Given the description of an element on the screen output the (x, y) to click on. 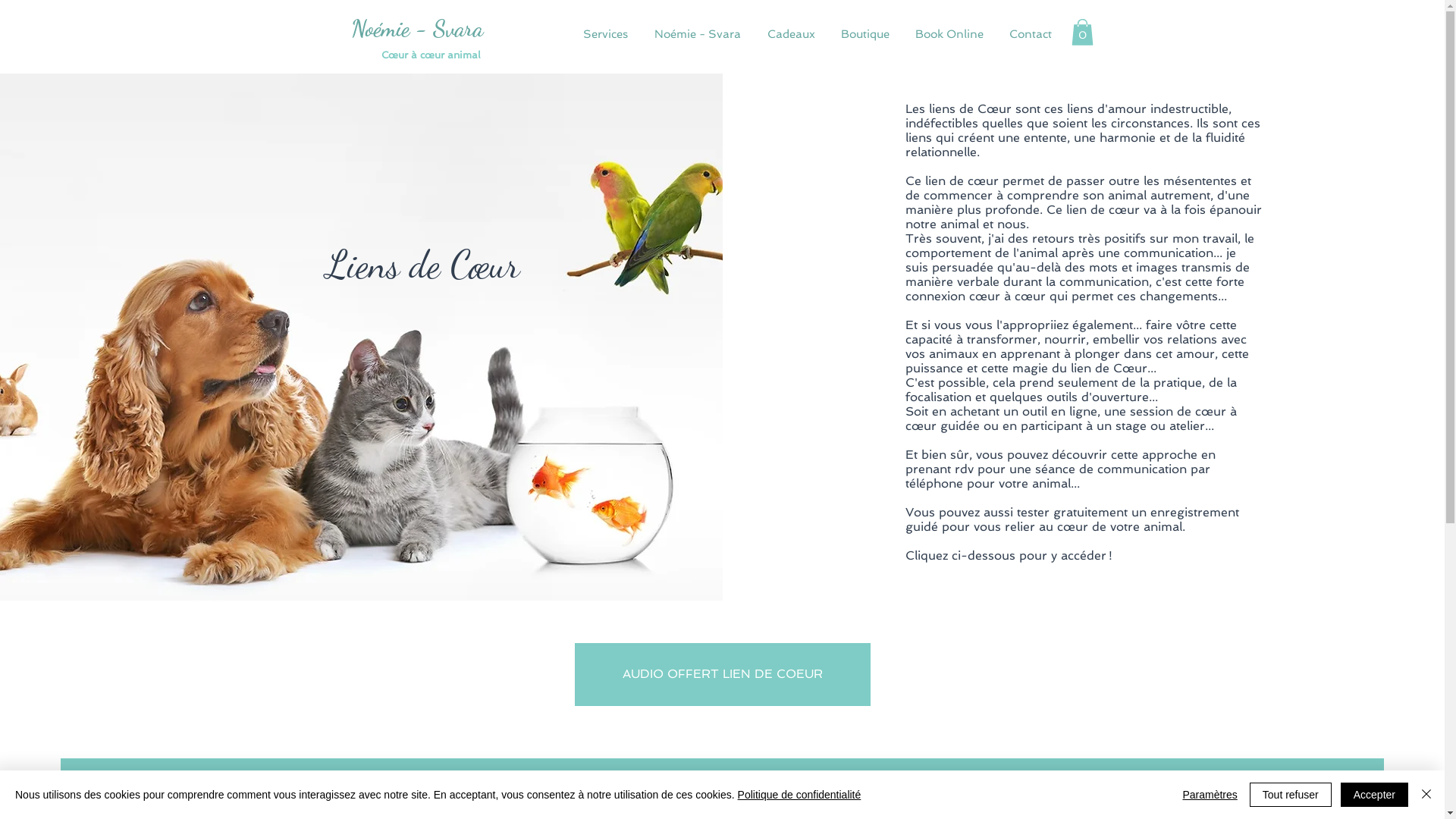
0 Element type: text (1081, 31)
Contact Element type: text (1028, 34)
Boutique Element type: text (863, 34)
Book Online Element type: text (947, 34)
AUDIO OFFERT LIEN DE COEUR Element type: text (722, 674)
